Given the description of an element on the screen output the (x, y) to click on. 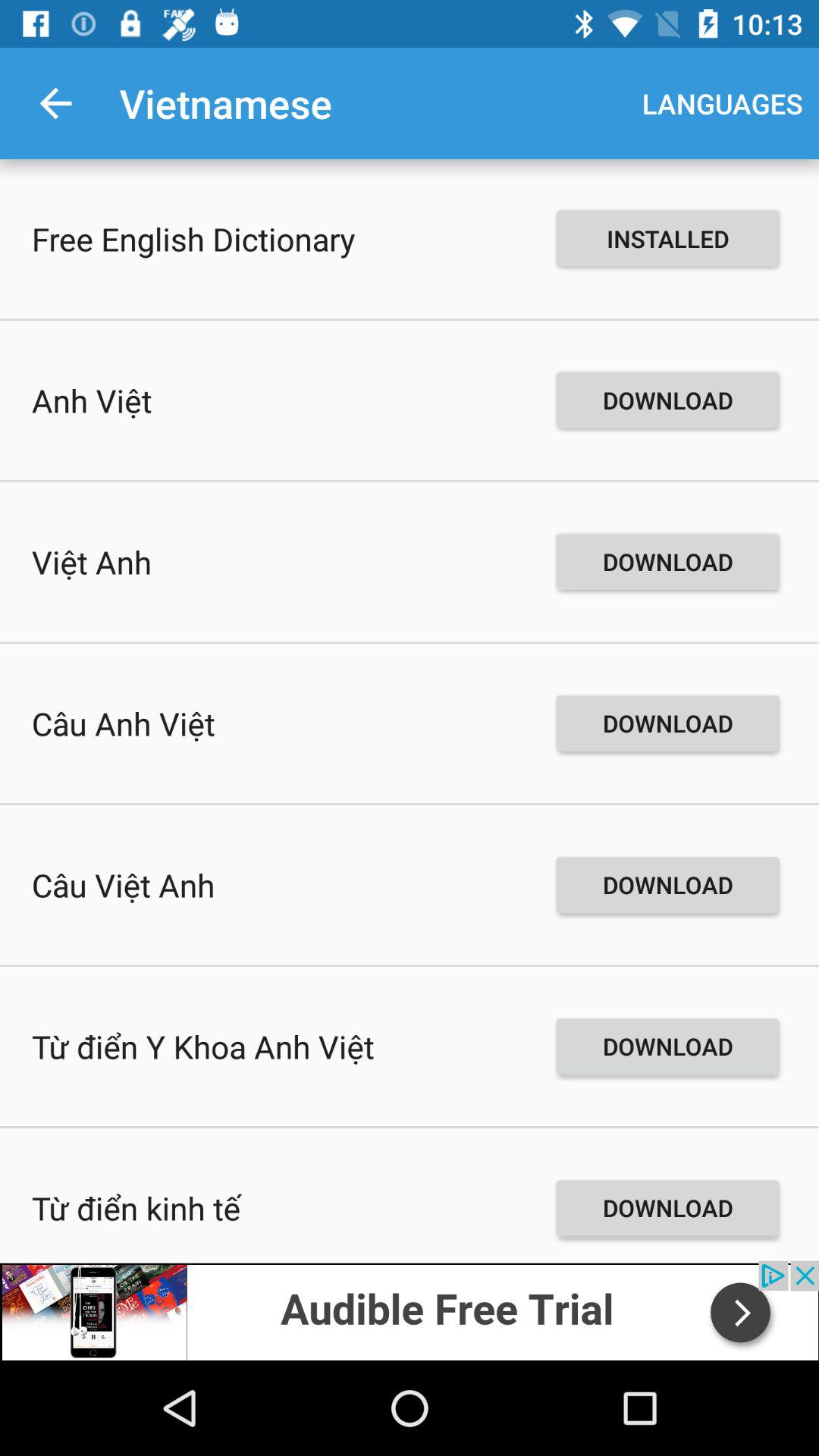
go to audible advertisement (409, 1310)
